Given the description of an element on the screen output the (x, y) to click on. 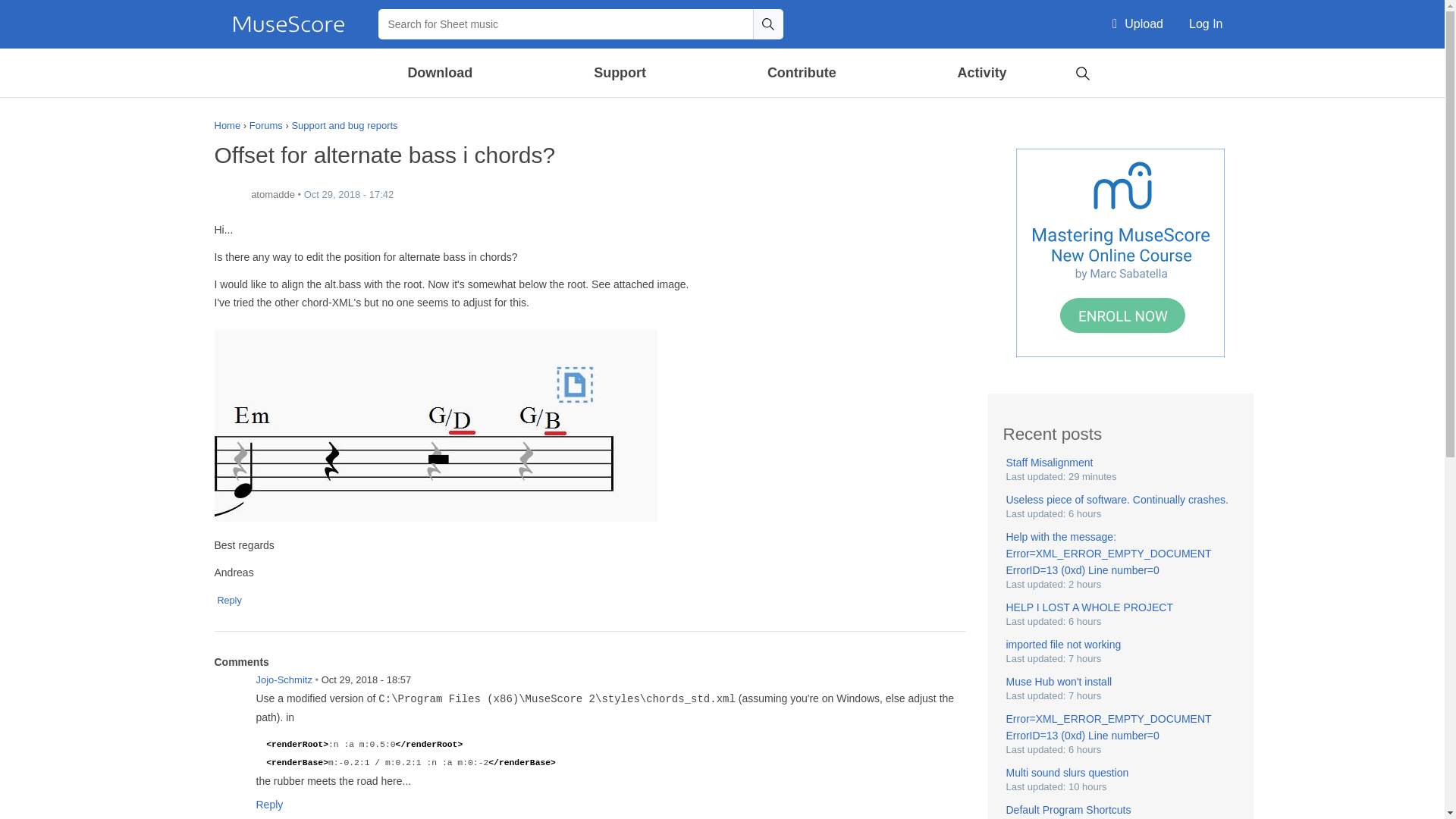
MuseScore (287, 23)
Contribute (801, 72)
Activity (981, 72)
Upload (1137, 24)
Jojo-Schmitz (229, 689)
Search (767, 24)
Home (287, 23)
alt bass.jpg (435, 425)
Support (619, 72)
atomadde (229, 195)
Log In (1205, 24)
Search (767, 24)
Search (1082, 71)
Download (440, 72)
